Given the description of an element on the screen output the (x, y) to click on. 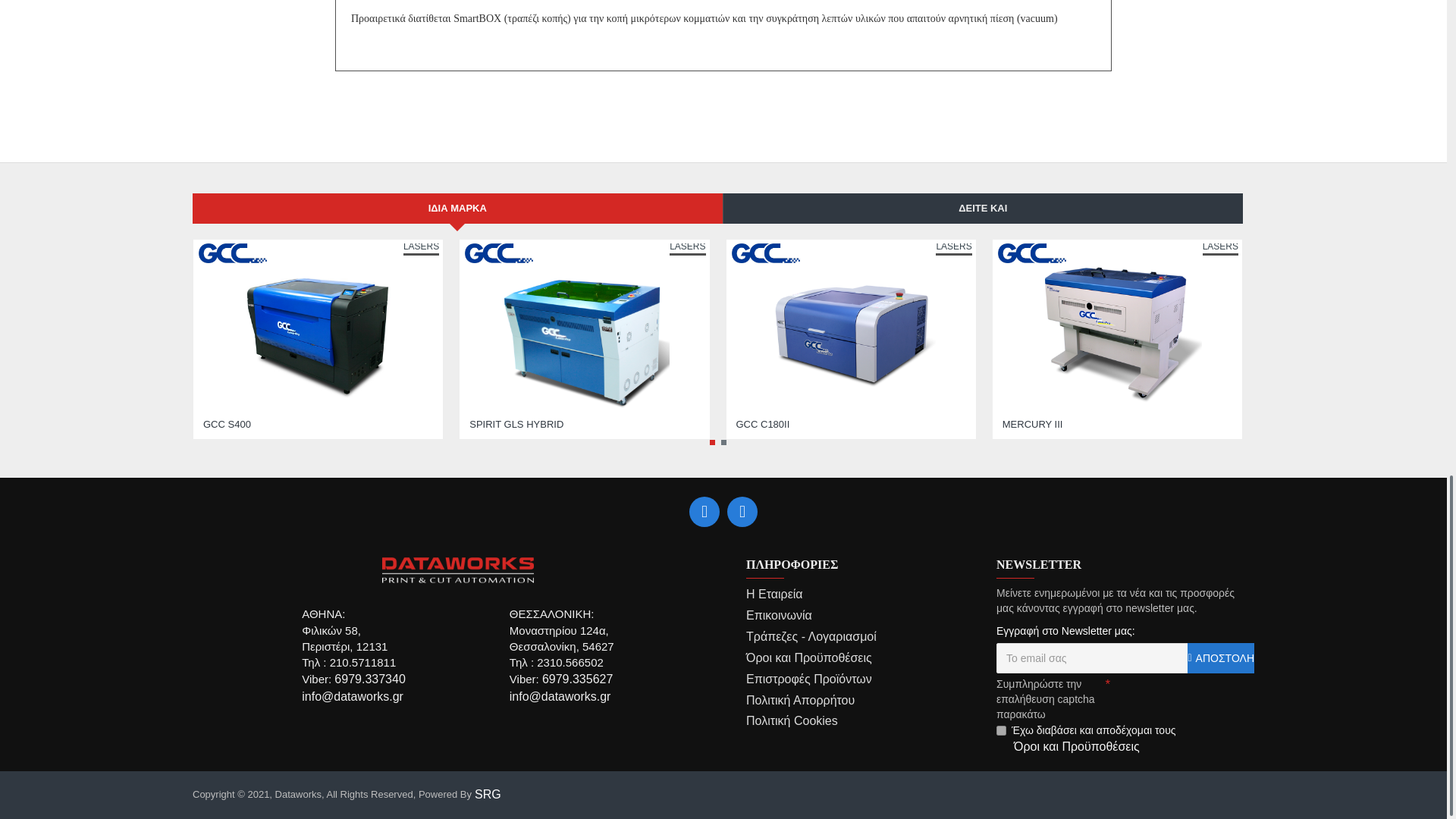
1 (1000, 730)
